Given the description of an element on the screen output the (x, y) to click on. 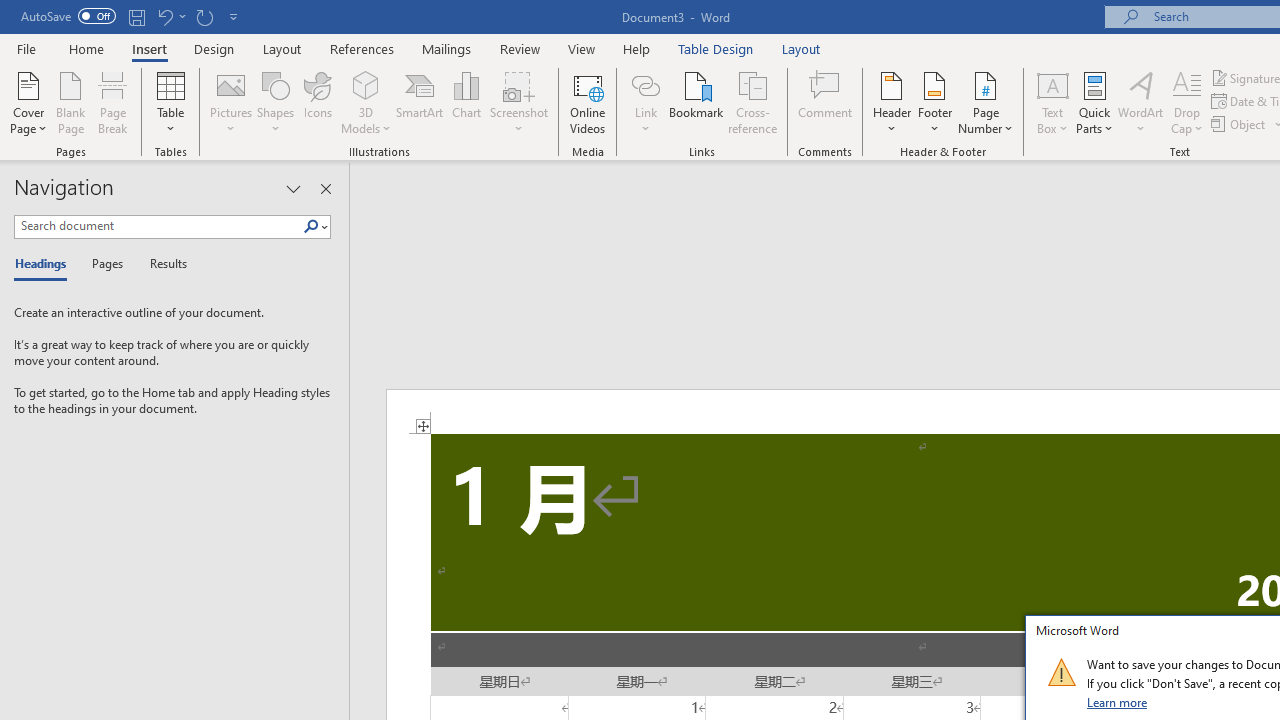
WordArt (1141, 102)
Bookmark... (695, 102)
Learn more (1118, 702)
Link (645, 102)
Screenshot (518, 102)
Table (170, 102)
Page Number (986, 102)
Undo Increase Indent (170, 15)
SmartArt... (419, 102)
Quick Parts (1094, 102)
3D Models (366, 84)
Drop Cap (1187, 102)
